Given the description of an element on the screen output the (x, y) to click on. 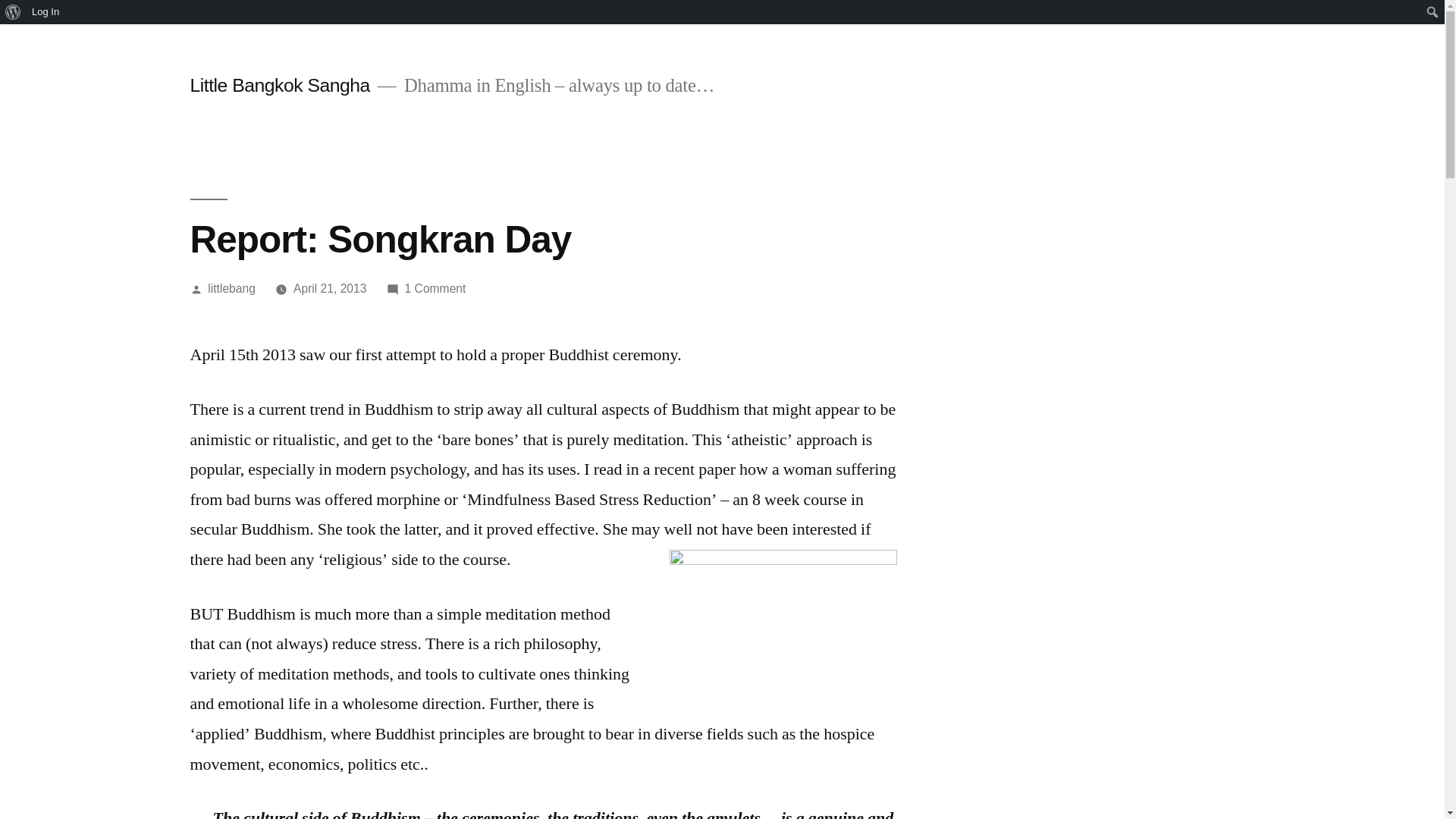
April 21, 2013 (330, 287)
littlebang (232, 287)
Search (15, 12)
Little Bangkok Sangha (434, 287)
Log In (279, 85)
